Given the description of an element on the screen output the (x, y) to click on. 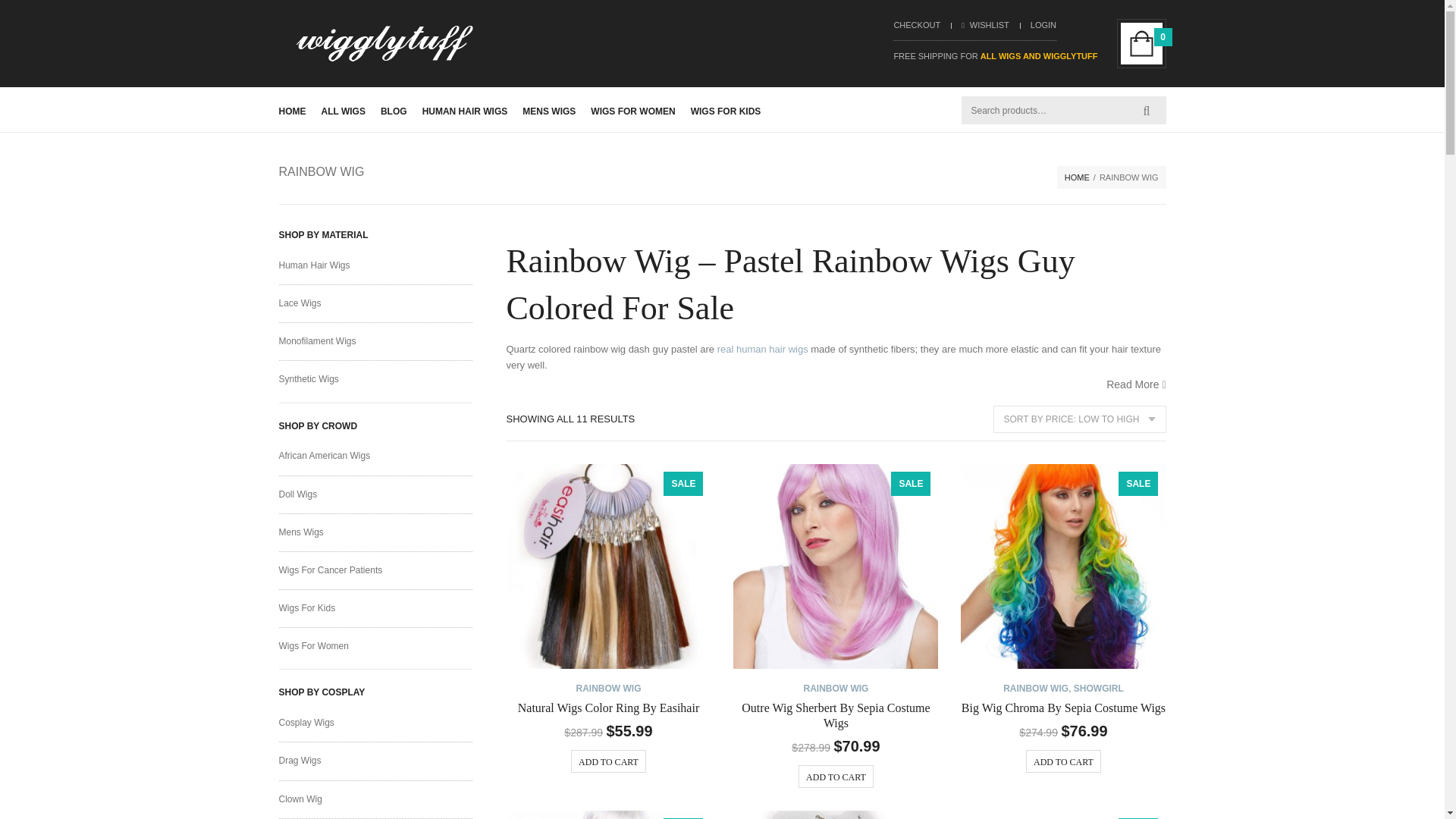
Outre Wig G Plus Color Ring By Gabor (835, 814)
Wig Salon Near Me Color Ring By Rene Of Paris (1063, 814)
Outre Wig Sherbert By Sepia Costume Wigs (835, 715)
View your shopping cart (1141, 43)
Big Wig Chroma By Sepia Costume Wigs (1063, 566)
Wishlist (984, 24)
Big Wig Chroma By Sepia Costume Wigs (1063, 707)
How To Wear A Wig Derby Girl By Sepia Costume Wigs (608, 814)
Natural Wigs Color Ring By Easihair (608, 707)
Natural Wigs Color Ring By Easihair (608, 566)
Outre Wig Sherbert By Sepia Costume Wigs (835, 566)
